Given the description of an element on the screen output the (x, y) to click on. 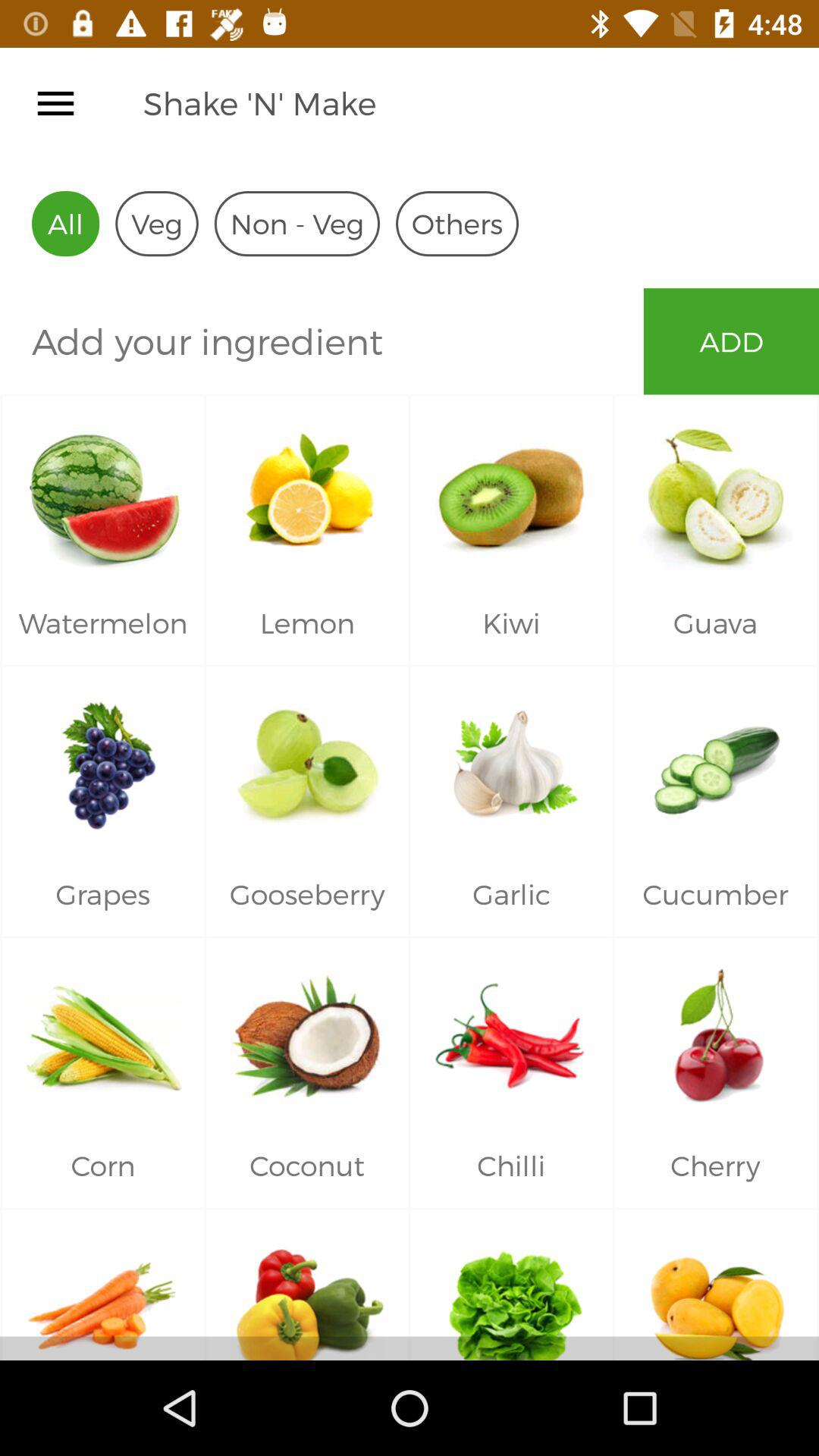
turn on the icon next to others item (296, 223)
